Given the description of an element on the screen output the (x, y) to click on. 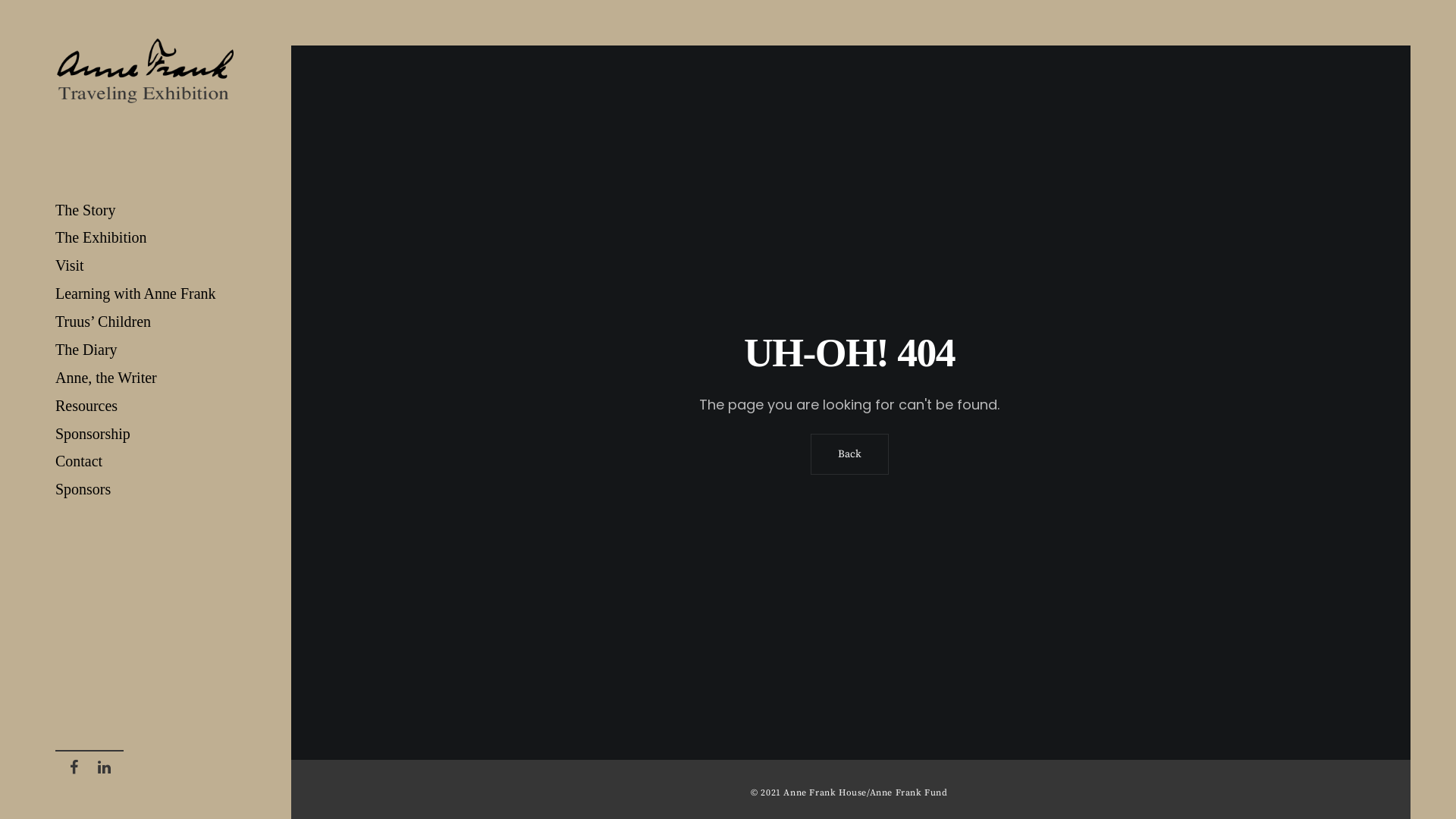
Learning with Anne Frank Element type: text (145, 293)
Sponsorship Element type: text (145, 433)
The Diary Element type: text (145, 349)
Anne, the Writer Element type: text (145, 377)
The Story Element type: text (145, 210)
Contact Element type: text (145, 461)
The Exhibition Element type: text (145, 237)
Resources Element type: text (145, 405)
Sponsors Element type: text (145, 489)
Back Element type: text (848, 453)
Visit Element type: text (145, 265)
